Given the description of an element on the screen output the (x, y) to click on. 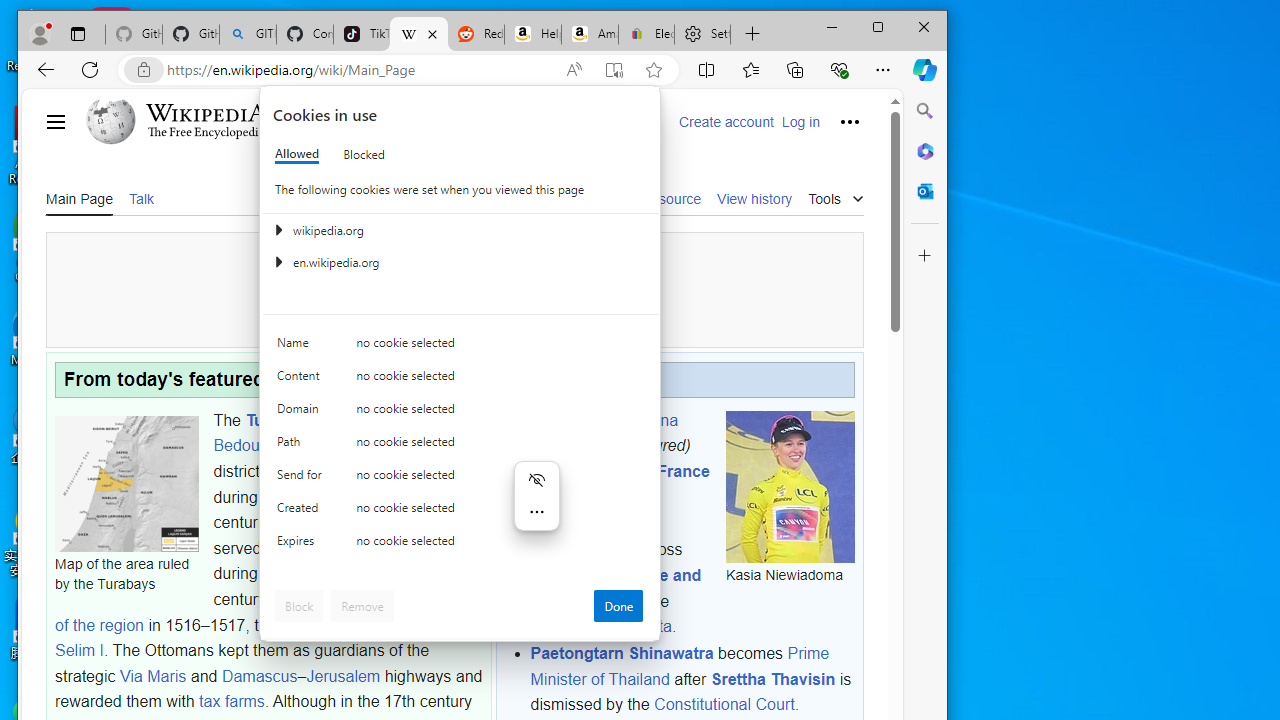
Hide menu (536, 479)
Content (302, 380)
Domain (302, 413)
Class: c0153 c0157 (460, 545)
Expires (302, 544)
Created (302, 511)
More actions (536, 511)
Class: c0153 c0157 c0154 (460, 347)
Mini menu on text selection (536, 507)
no cookie selected (500, 544)
Done (617, 605)
Mini menu on text selection (536, 495)
Allowed (296, 153)
Block (299, 605)
Path (302, 446)
